Given the description of an element on the screen output the (x, y) to click on. 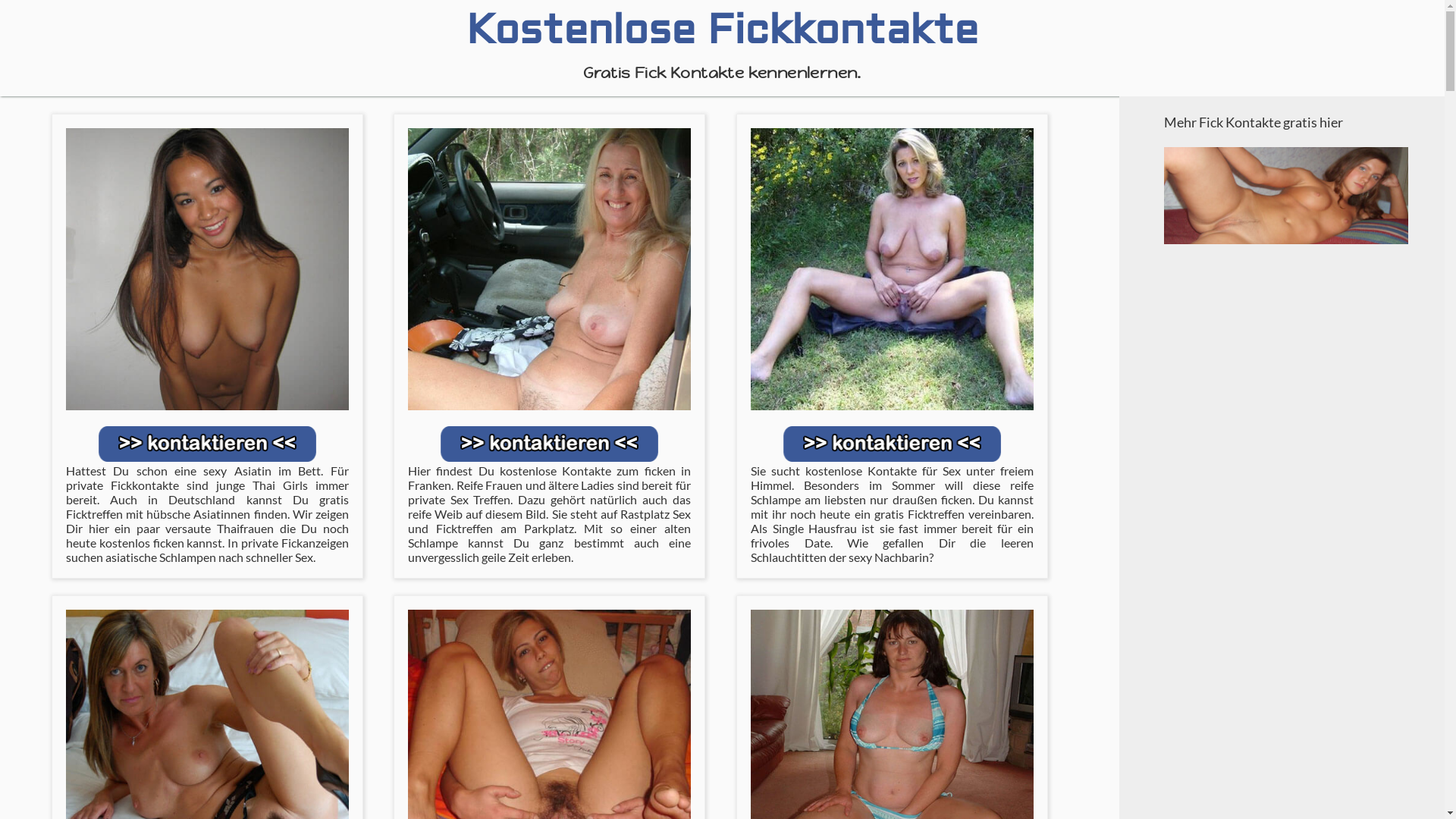
saar-ladies.com Element type: hover (891, 269)
franken-ladies.com Element type: hover (548, 269)
geile-thai-girls.com Element type: hover (206, 269)
Kostenlose Fickkontakte
Gratis Fick Kontakte kennenlernen. Element type: text (722, 40)
